Given the description of an element on the screen output the (x, y) to click on. 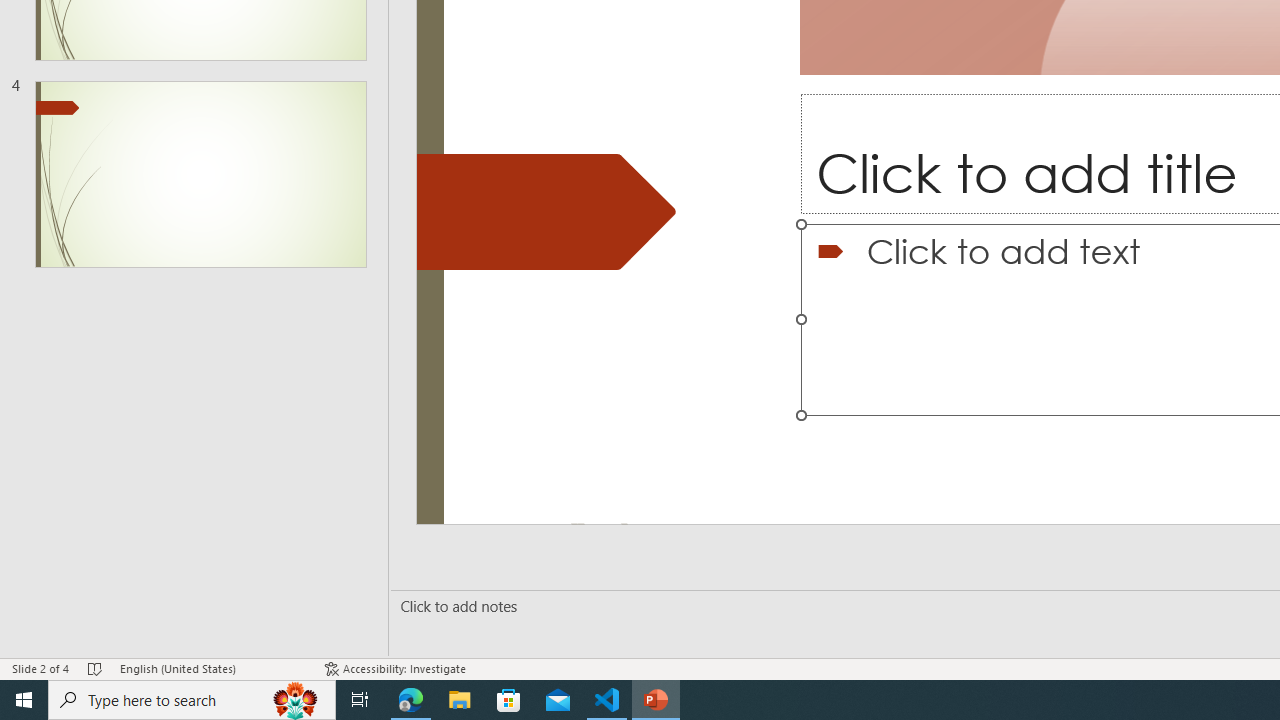
Decorative Locked (546, 212)
